Given the description of an element on the screen output the (x, y) to click on. 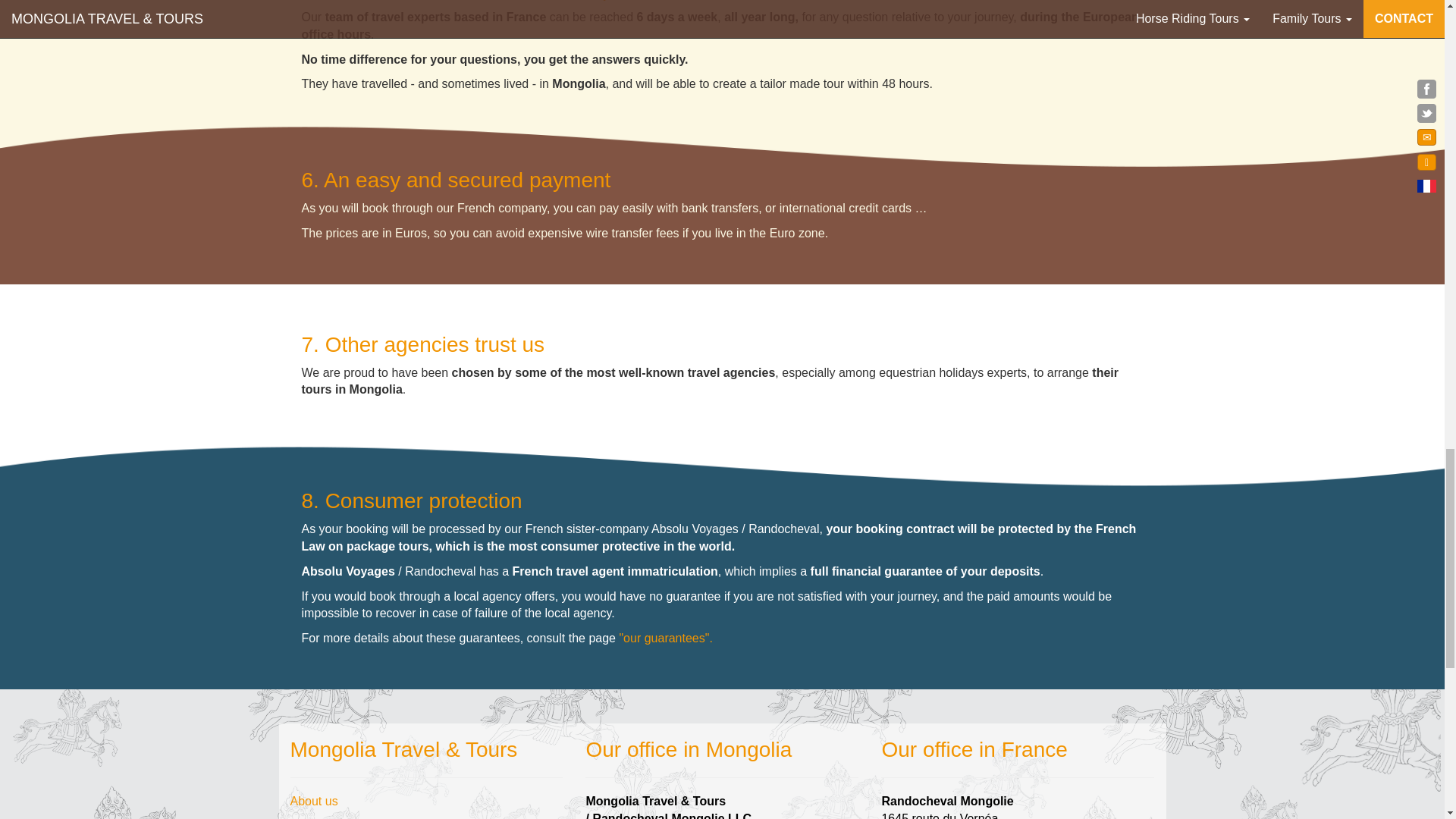
"our guarantees". (664, 637)
About us (313, 800)
